Given the description of an element on the screen output the (x, y) to click on. 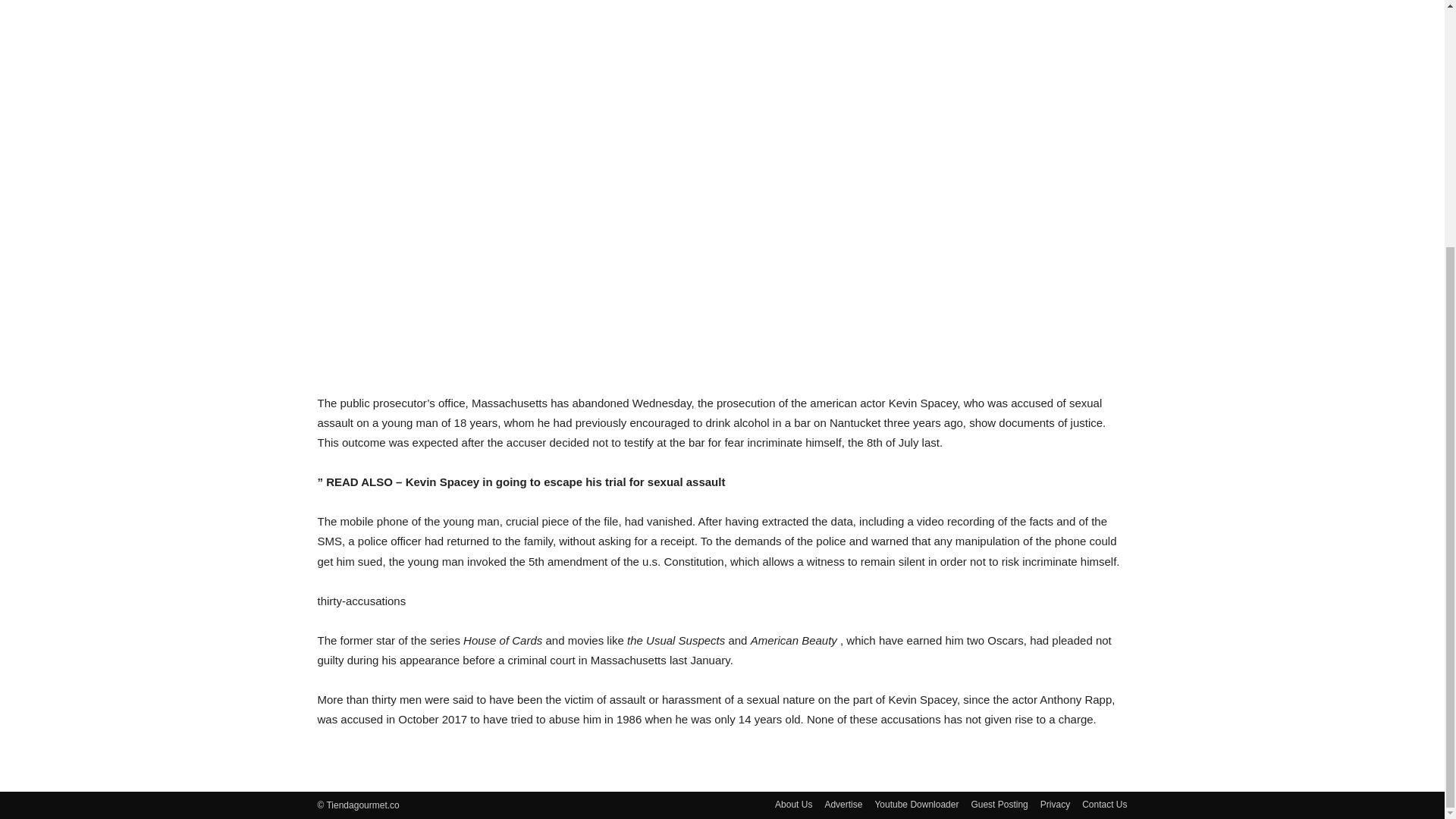
Privacy (1055, 804)
Guest Posting (999, 804)
Contact Us (1103, 804)
Youtube Downloader (916, 804)
Advertise (842, 804)
About Us (793, 804)
